Given the description of an element on the screen output the (x, y) to click on. 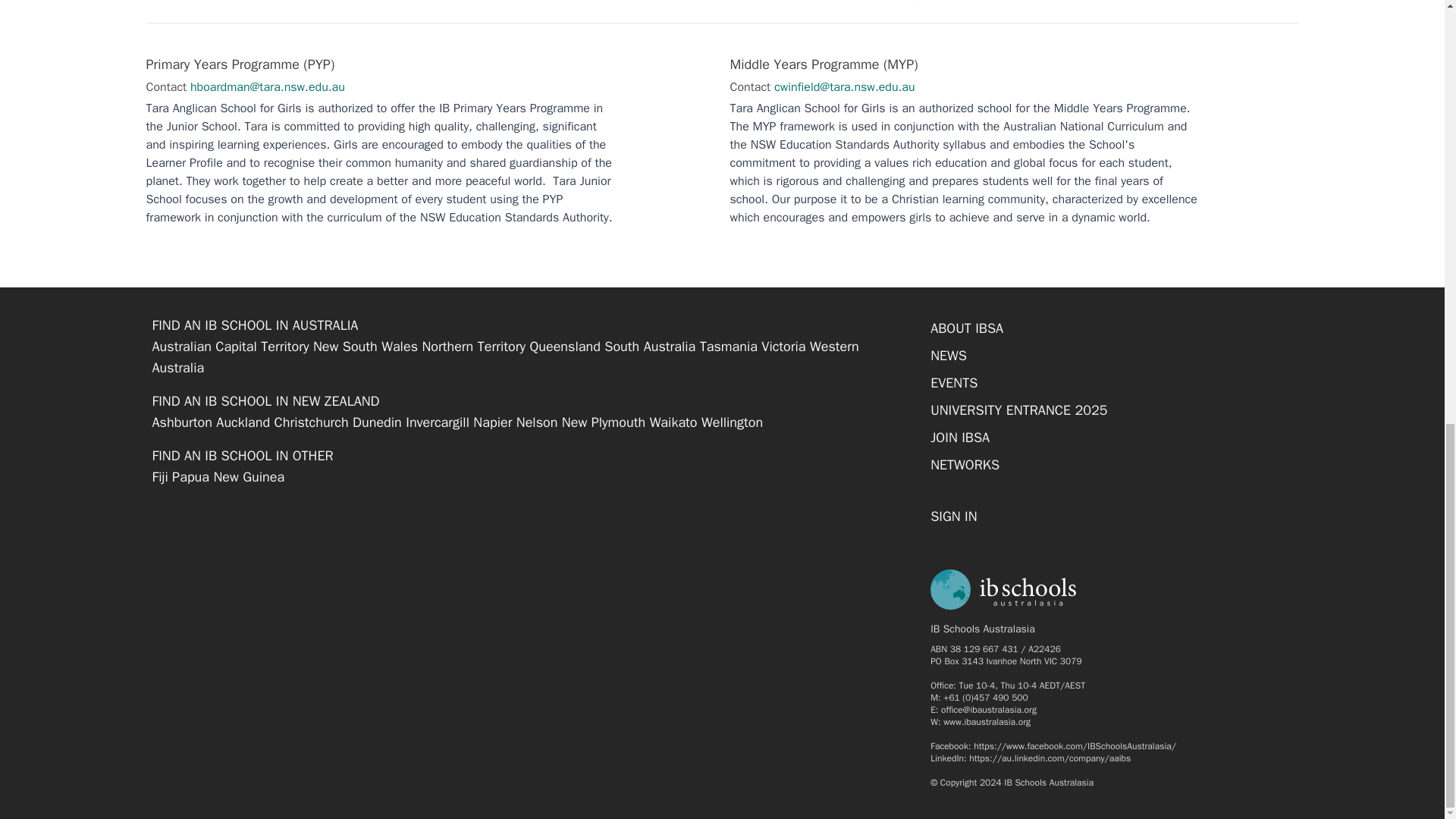
Queensland (564, 346)
South Australia (649, 346)
Victoria (783, 346)
Christchurch (312, 422)
Tasmania (728, 346)
Ashburton (181, 422)
New South Wales (365, 346)
Auckland (242, 422)
Australian Capital Territory (229, 346)
Western Australia (505, 356)
Northern Territory (473, 346)
